Given the description of an element on the screen output the (x, y) to click on. 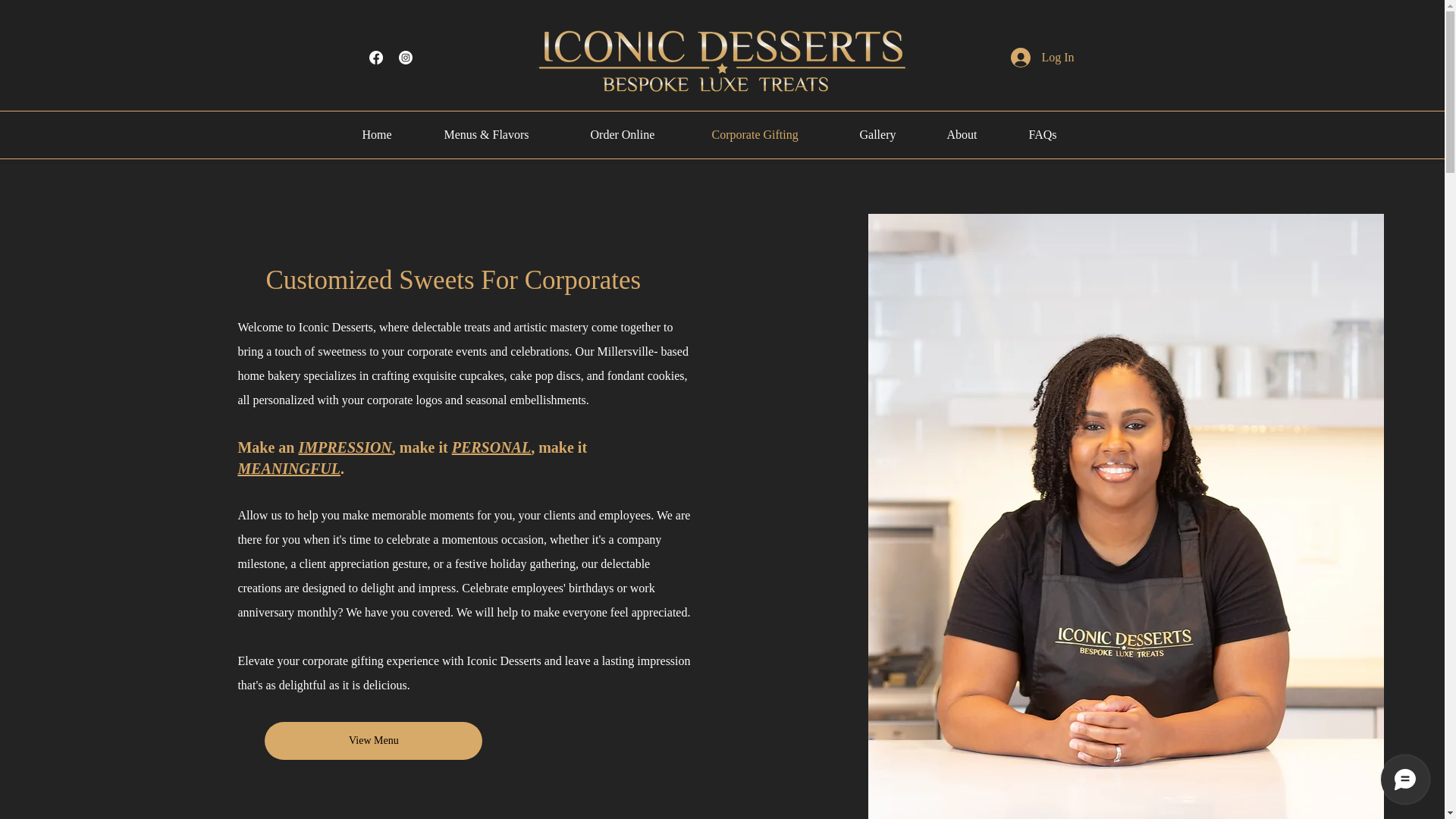
FAQs (1055, 134)
About (976, 134)
Log In (1042, 57)
Home (391, 134)
View Menu (372, 740)
Gallery (890, 134)
Corporate Gifting (774, 134)
